Given the description of an element on the screen output the (x, y) to click on. 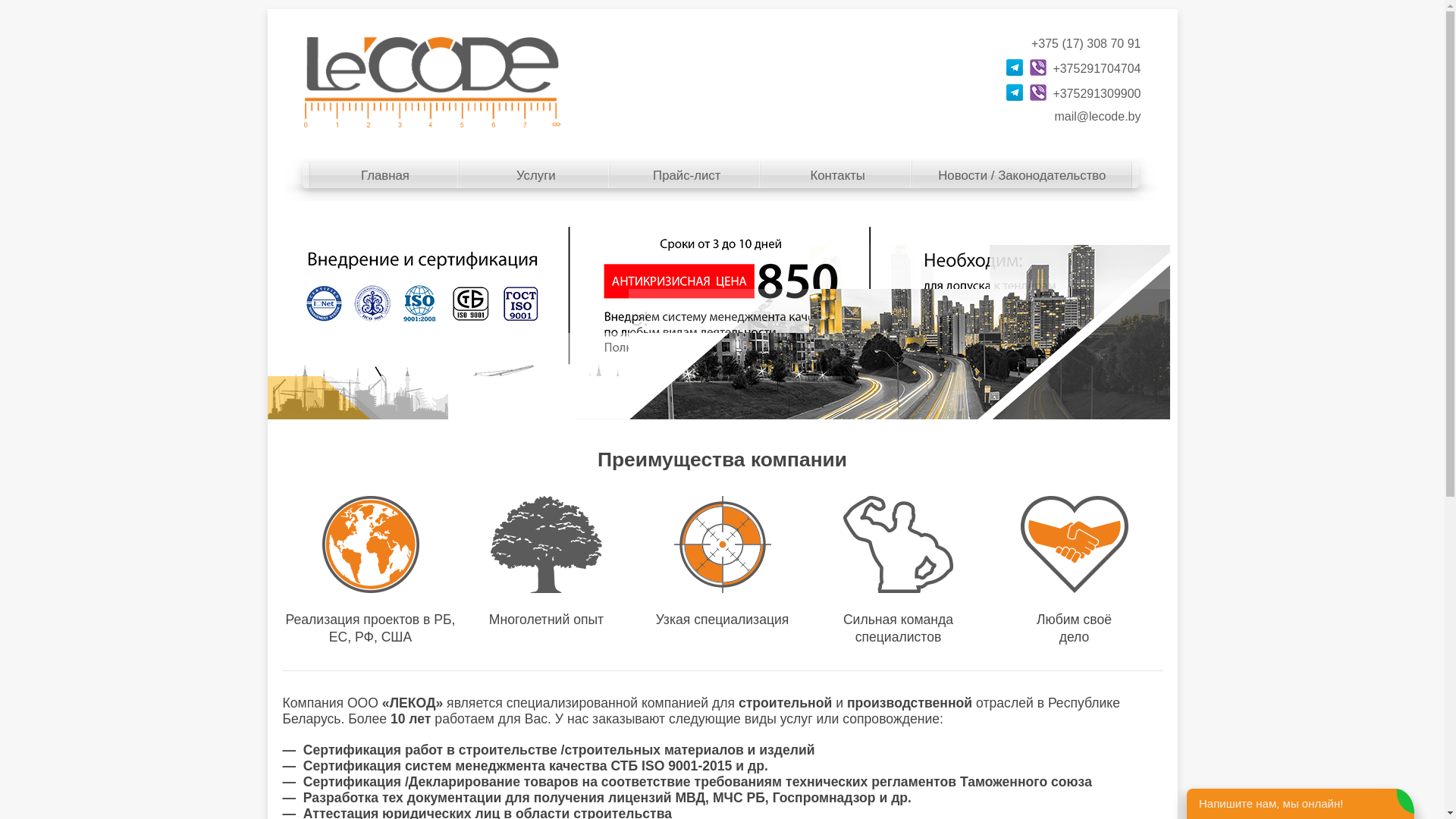
+375 (17) 308 70 91 Element type: text (1086, 43)
+375291309900 Element type: text (1096, 93)
mail@lecode.by Element type: text (1097, 115)
+375291704704 Element type: text (1096, 68)
